Given the description of an element on the screen output the (x, y) to click on. 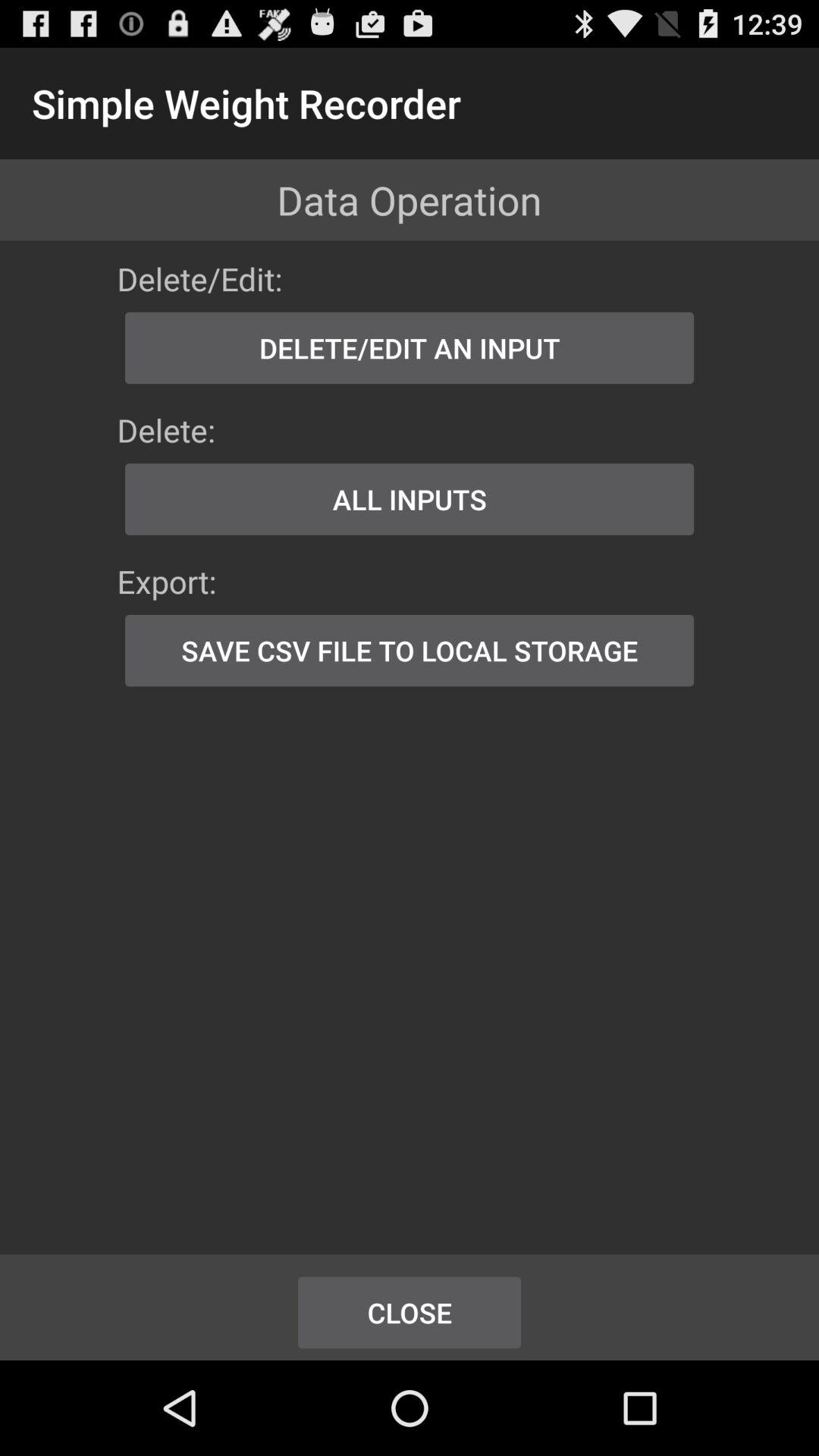
choose button at the bottom (409, 1312)
